Given the description of an element on the screen output the (x, y) to click on. 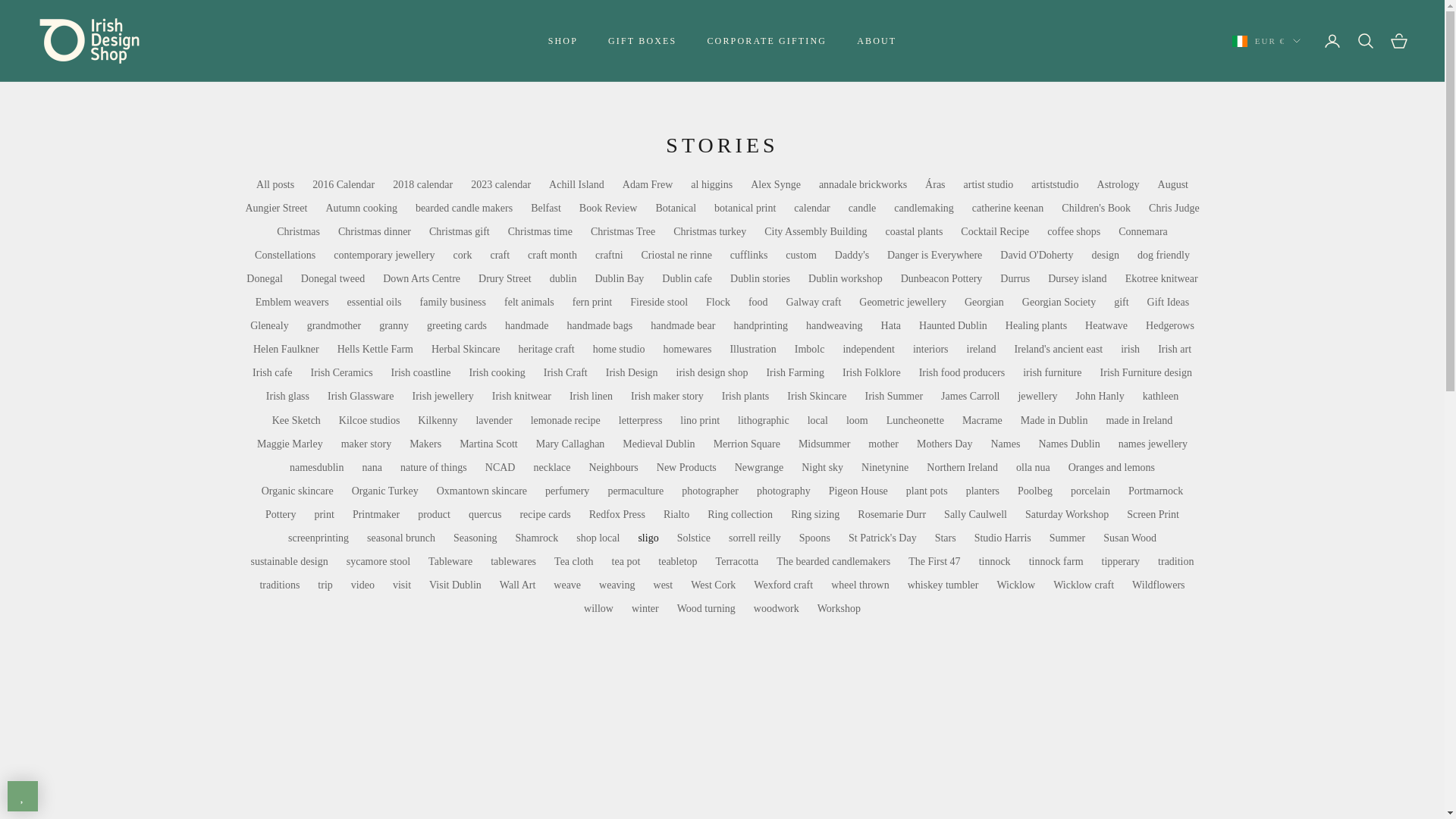
Show articles tagged Alex Synge (775, 184)
Show articles tagged 2023 calendar (500, 184)
Show articles tagged Astrology (1118, 184)
Show articles tagged Botanical (675, 207)
Show articles tagged August (1172, 184)
Show articles tagged 2016 Calendar (343, 184)
Show articles tagged Achill Island (576, 184)
Show articles tagged Book Review (608, 207)
Show articles tagged annadale brickworks (862, 184)
CORPORATE GIFTING (766, 40)
Show articles tagged Belfast (545, 207)
Show articles tagged artiststudio (1054, 184)
ABOUT (876, 40)
Show articles tagged 2018 calendar (422, 184)
Show articles tagged al higgins (711, 184)
